Given the description of an element on the screen output the (x, y) to click on. 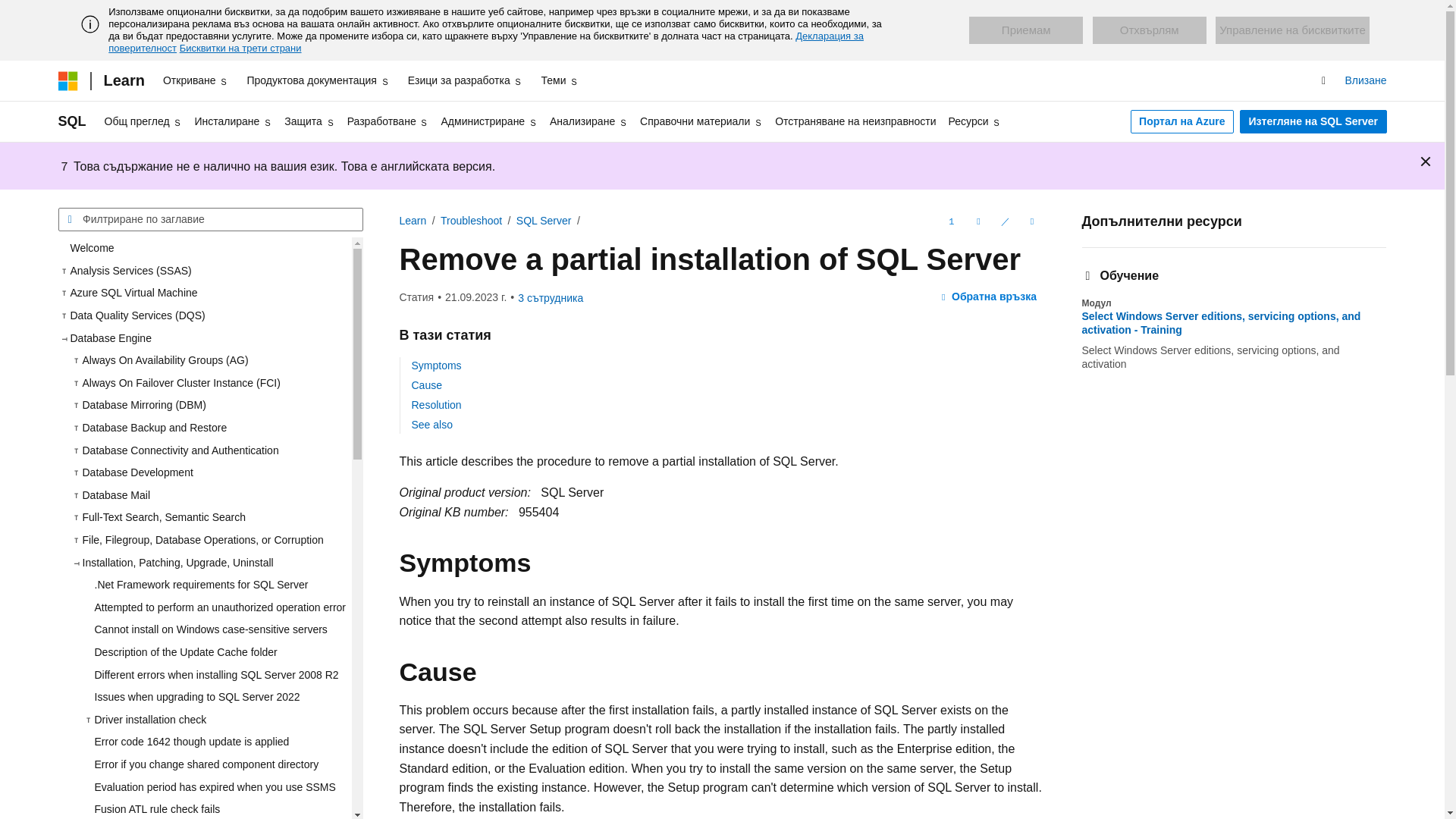
Learn (123, 80)
SQL (71, 121)
